Given the description of an element on the screen output the (x, y) to click on. 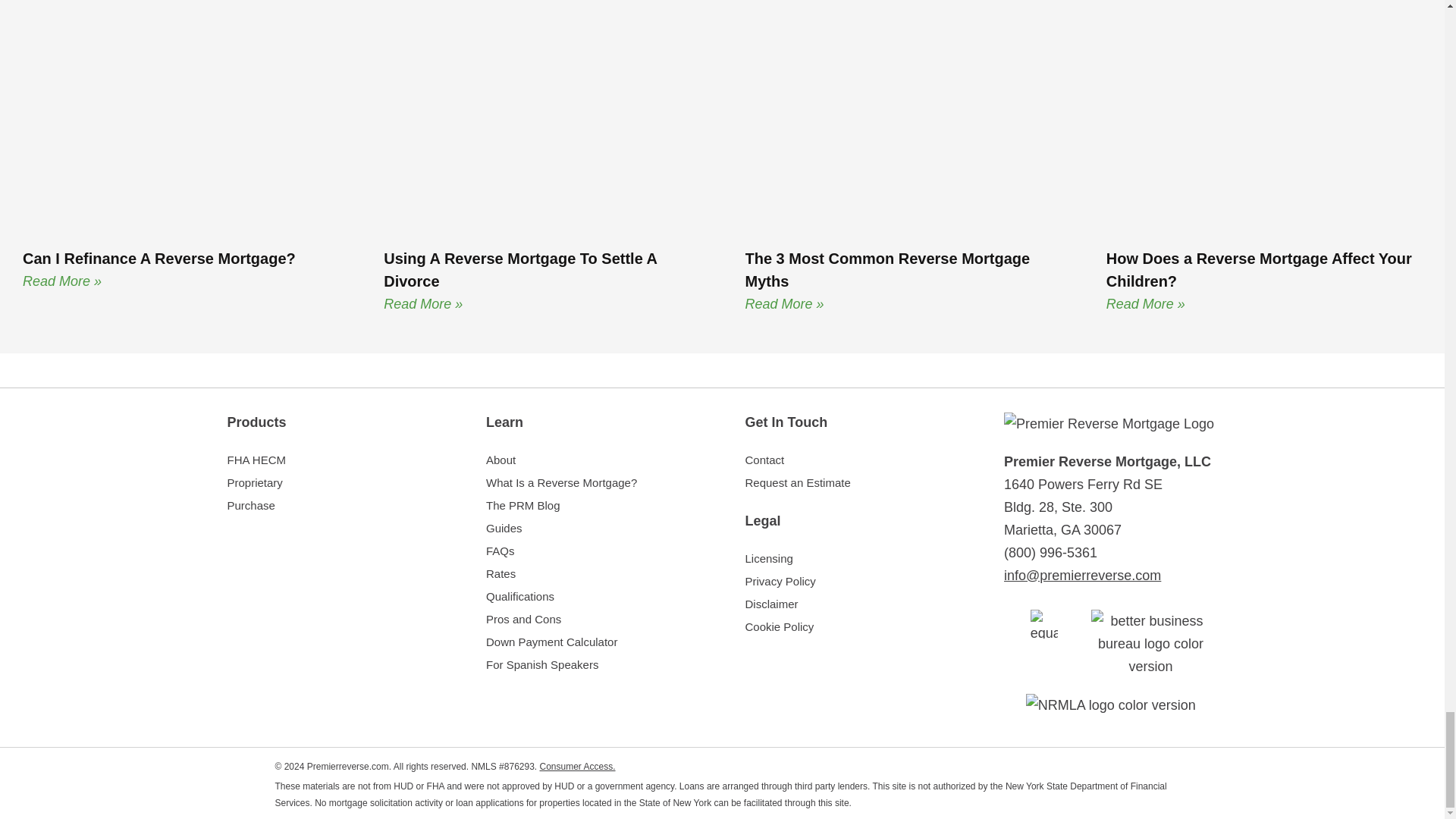
nrmla-logo-color (1110, 704)
Premier-Reverse-Mortgage-Logo (1109, 423)
BBB-Accredited-Business-color (1149, 643)
